Given the description of an element on the screen output the (x, y) to click on. 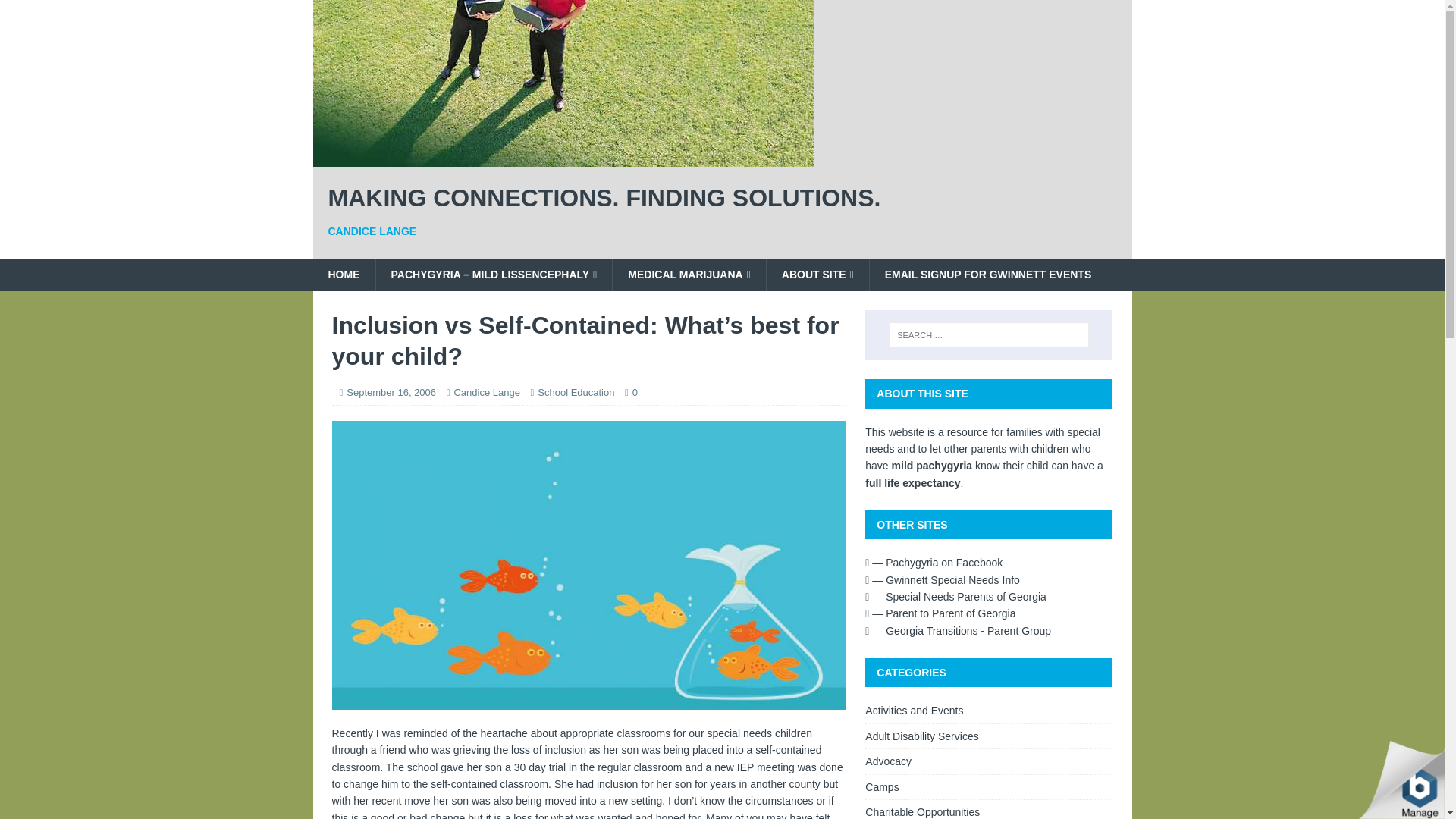
Special Needs Parents of Georgia (955, 596)
ABOUT SITE (817, 274)
HOME (721, 211)
EMAIL SIGNUP FOR GWINNETT EVENTS (343, 274)
Pachygyria on Facebook (987, 274)
September 16, 2006 (933, 562)
Making Connections. Finding Solutions. (390, 392)
Making Connections. Finding Solutions. (562, 158)
Candice Lange (721, 211)
